Given the description of an element on the screen output the (x, y) to click on. 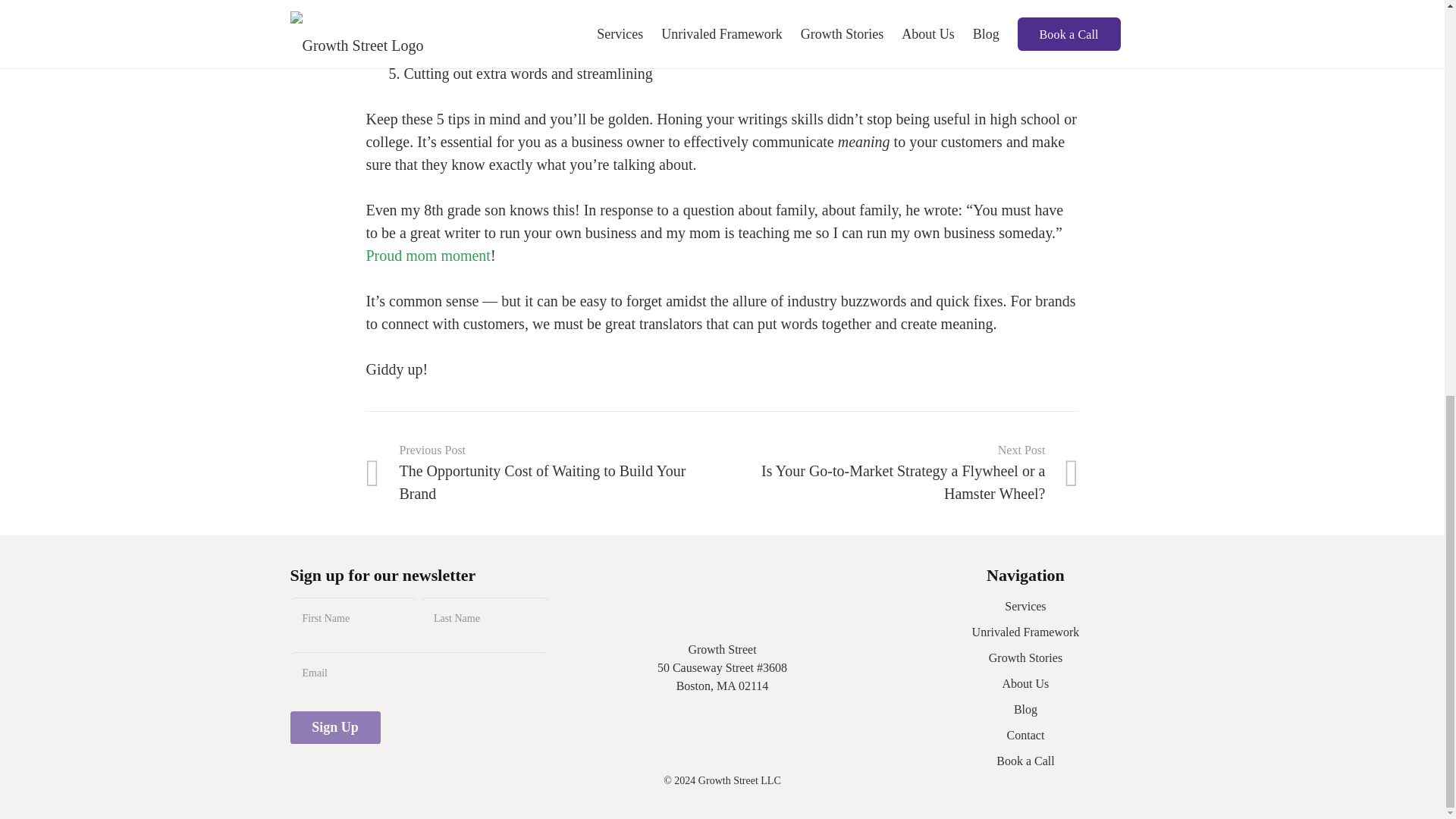
Contact (1026, 735)
Sign Up (334, 727)
Growth Stories (1025, 657)
The Opportunity Cost of Waiting to Build Your Brand (543, 473)
Proud mom moment (427, 255)
About Us (1026, 683)
Blog (1024, 708)
Book a Call (1024, 760)
